Given the description of an element on the screen output the (x, y) to click on. 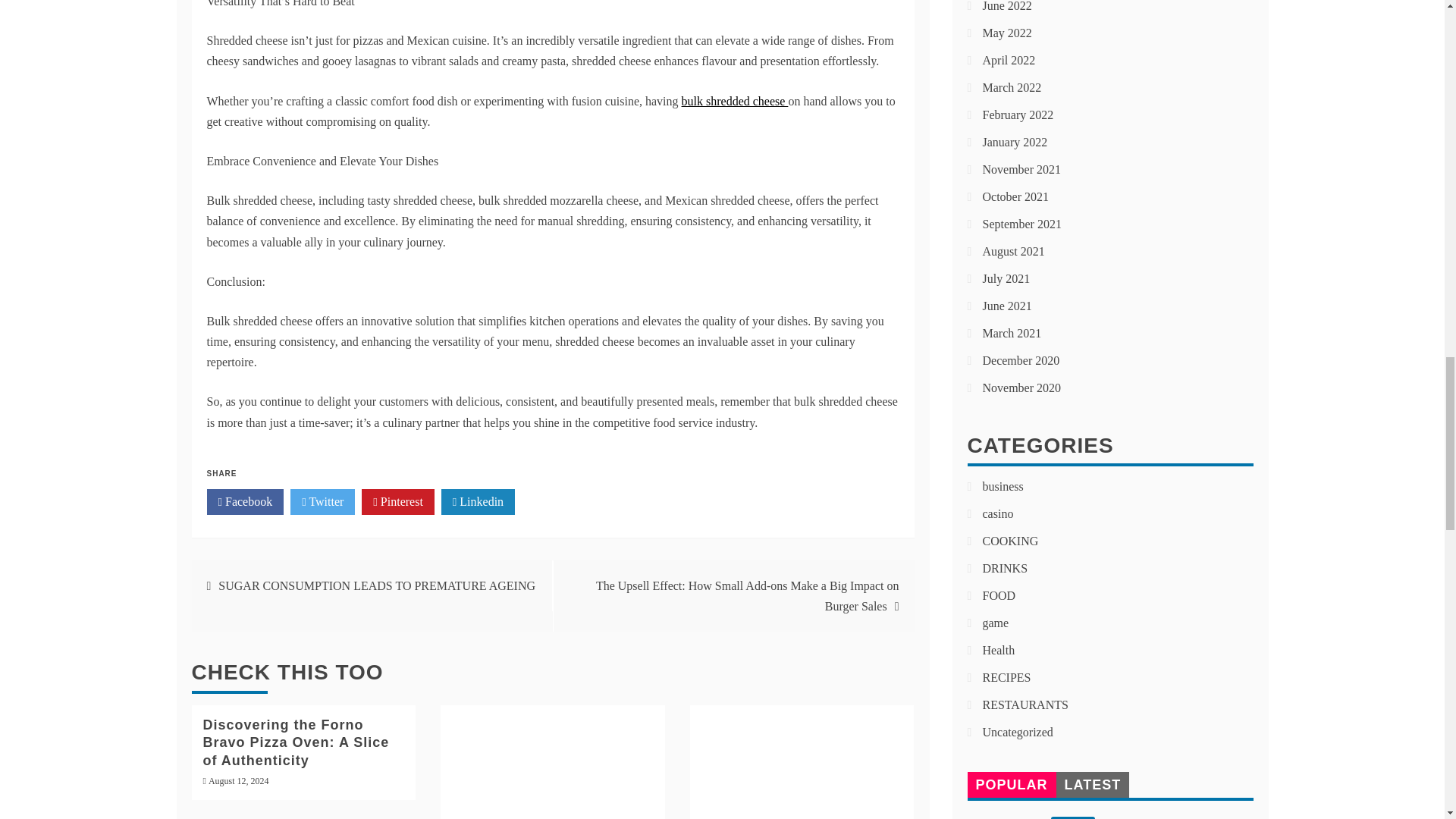
Linkedin (478, 501)
August 12, 2024 (238, 780)
SUGAR CONSUMPTION LEADS TO PREMATURE AGEING (376, 585)
Pinterest (397, 501)
Twitter (322, 501)
bulk shredded cheese (735, 101)
Facebook (244, 501)
